Given the description of an element on the screen output the (x, y) to click on. 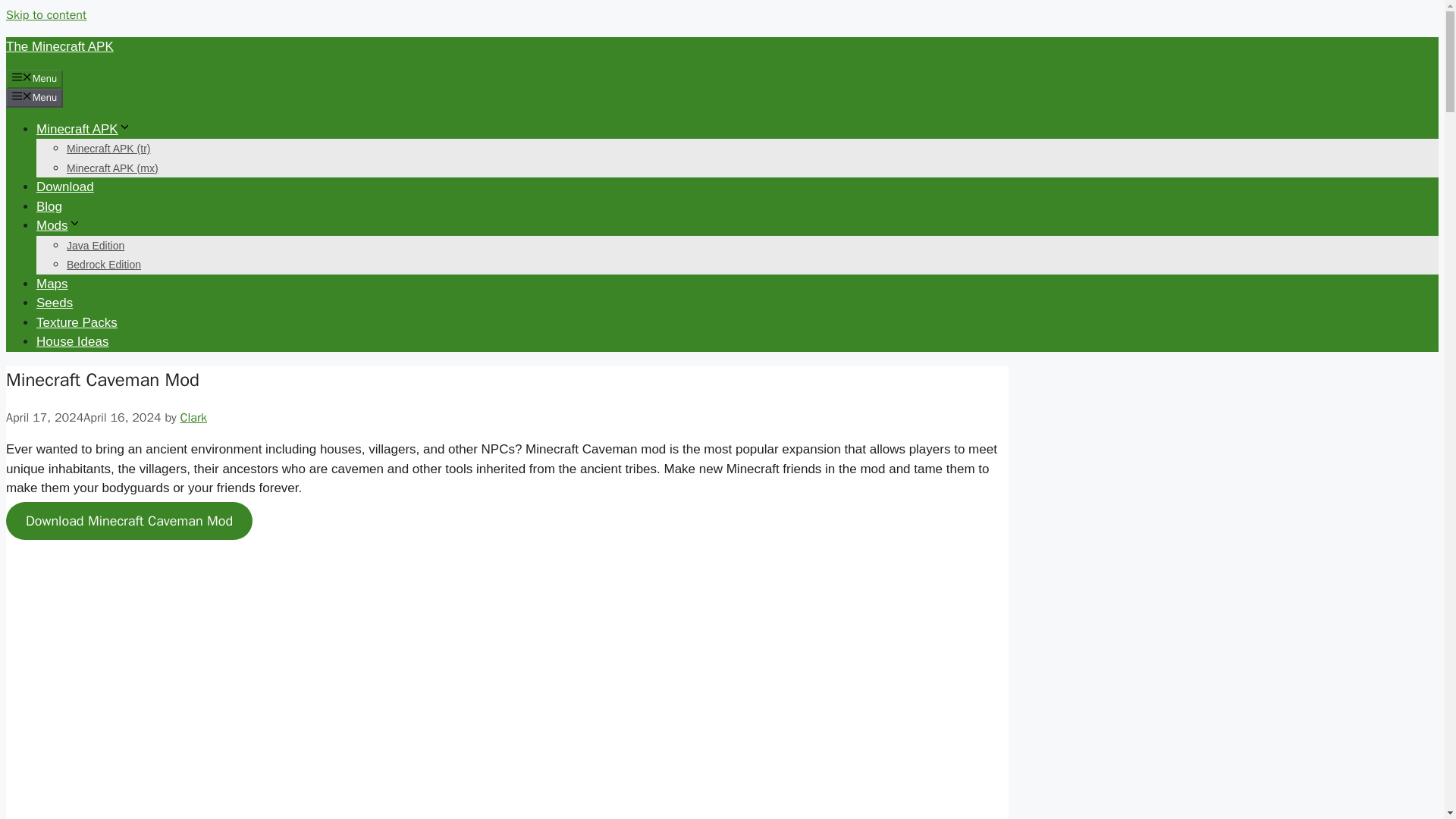
House Ideas (71, 341)
Skip to content (45, 14)
Java Edition (94, 245)
Download (65, 186)
Mods (58, 225)
View all posts by Clark (193, 417)
Skip to content (45, 14)
Minecraft APK (83, 128)
Seeds (54, 302)
Clark (193, 417)
Menu (33, 78)
Menu (33, 97)
Maps (52, 283)
Blog (49, 205)
The Minecraft APK (59, 46)
